Given the description of an element on the screen output the (x, y) to click on. 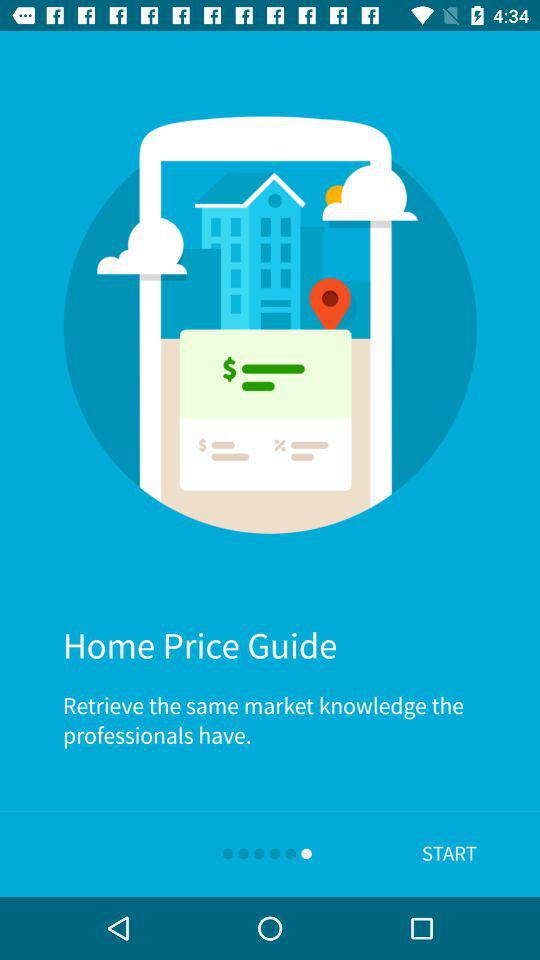
launch start (449, 853)
